Given the description of an element on the screen output the (x, y) to click on. 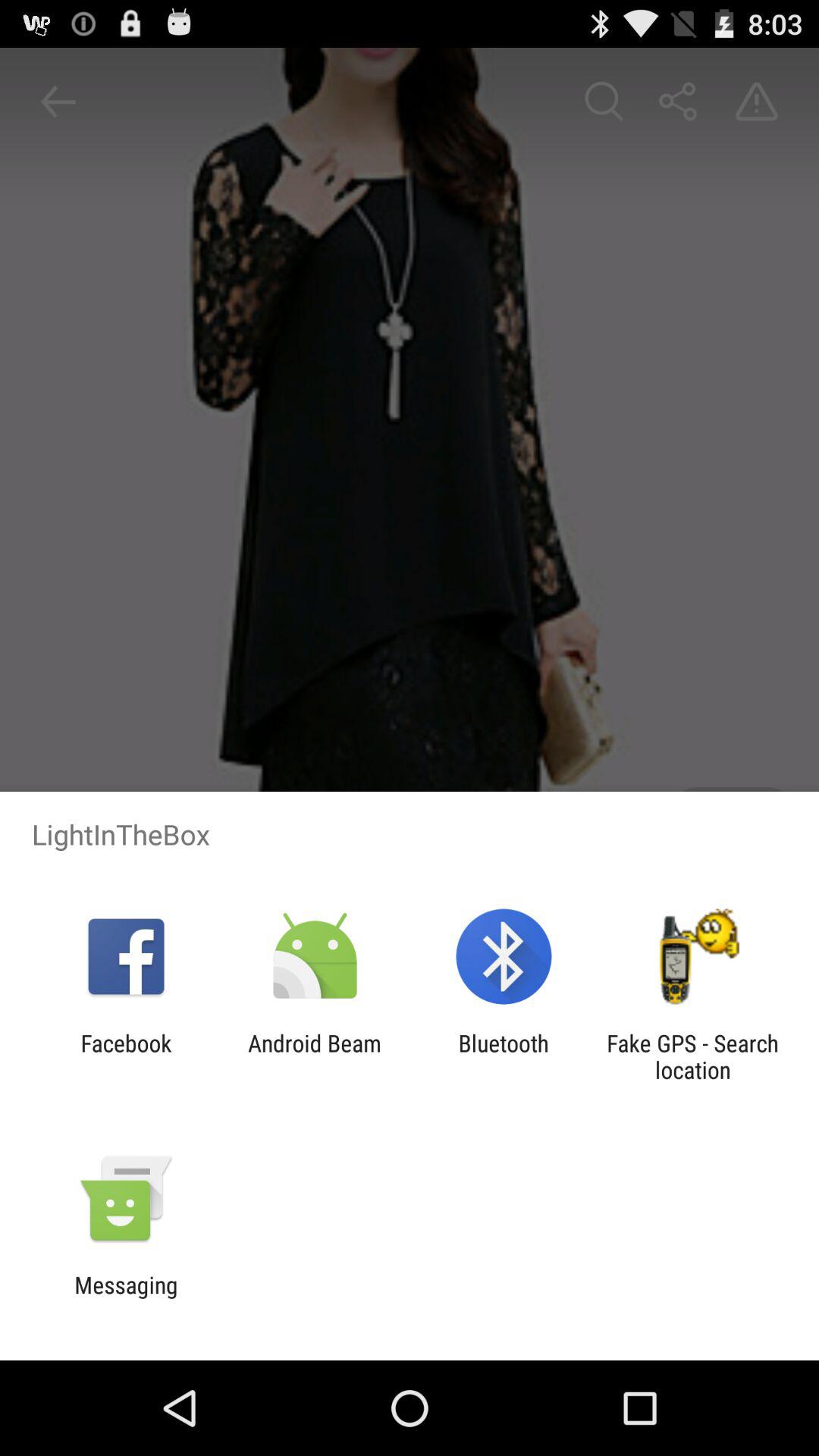
press android beam app (314, 1056)
